Given the description of an element on the screen output the (x, y) to click on. 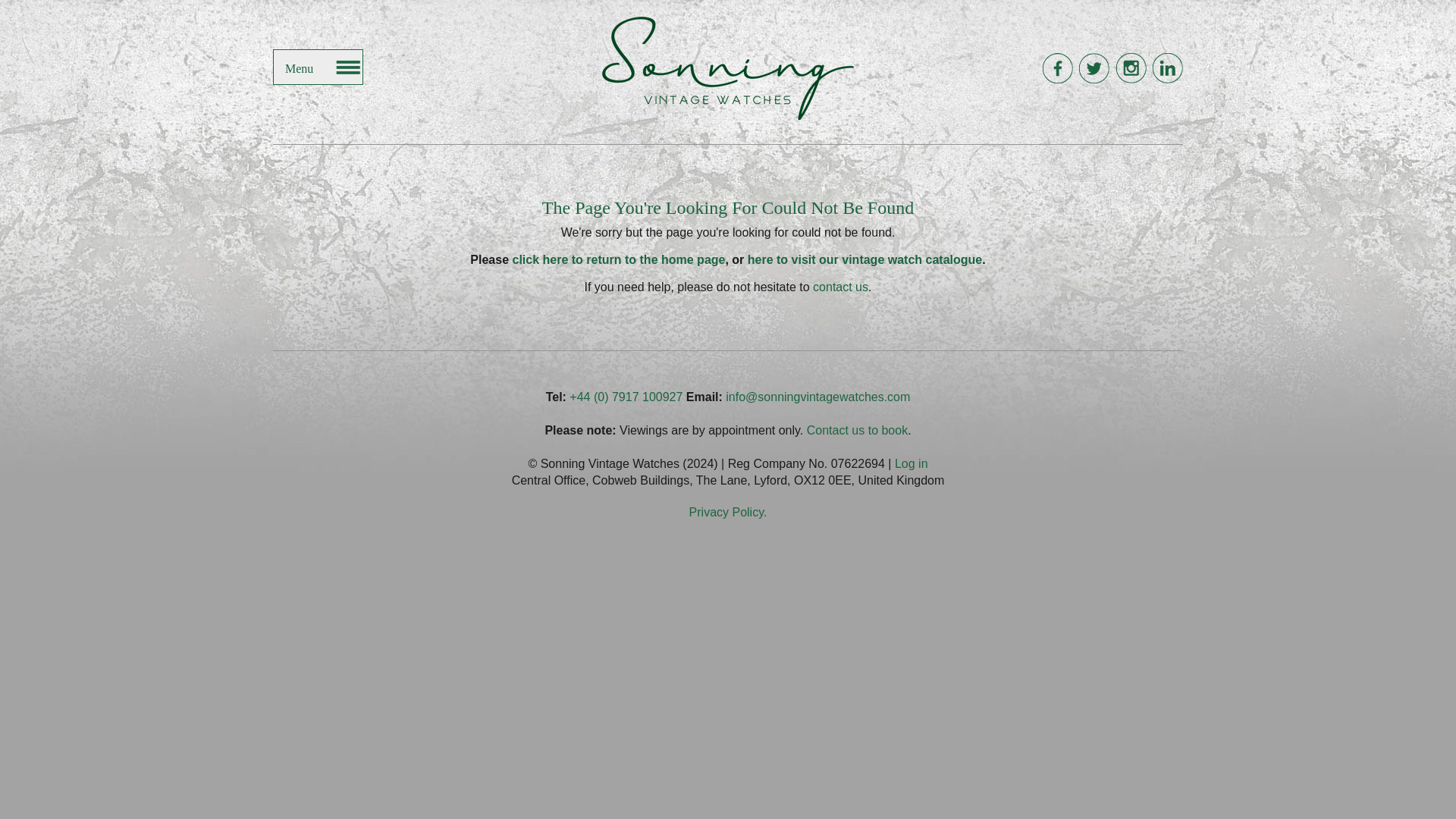
Sonning Vintage Watches On Twitter (1093, 68)
Sonning Vintage Watches On Instagram (1131, 68)
Sonning Vintage Watches On Twitter (1093, 68)
Sonning Vintage Watches (727, 68)
Sonning Vintage Watches On LinkedIn (1166, 68)
here to visit our vintage watch catalogue (864, 259)
contact us (839, 286)
Sonning Vintage Watches On LinkedIn (1166, 68)
Sonning Vintage Watches On Instagram (1131, 68)
click here to return to the home page (618, 259)
